Given the description of an element on the screen output the (x, y) to click on. 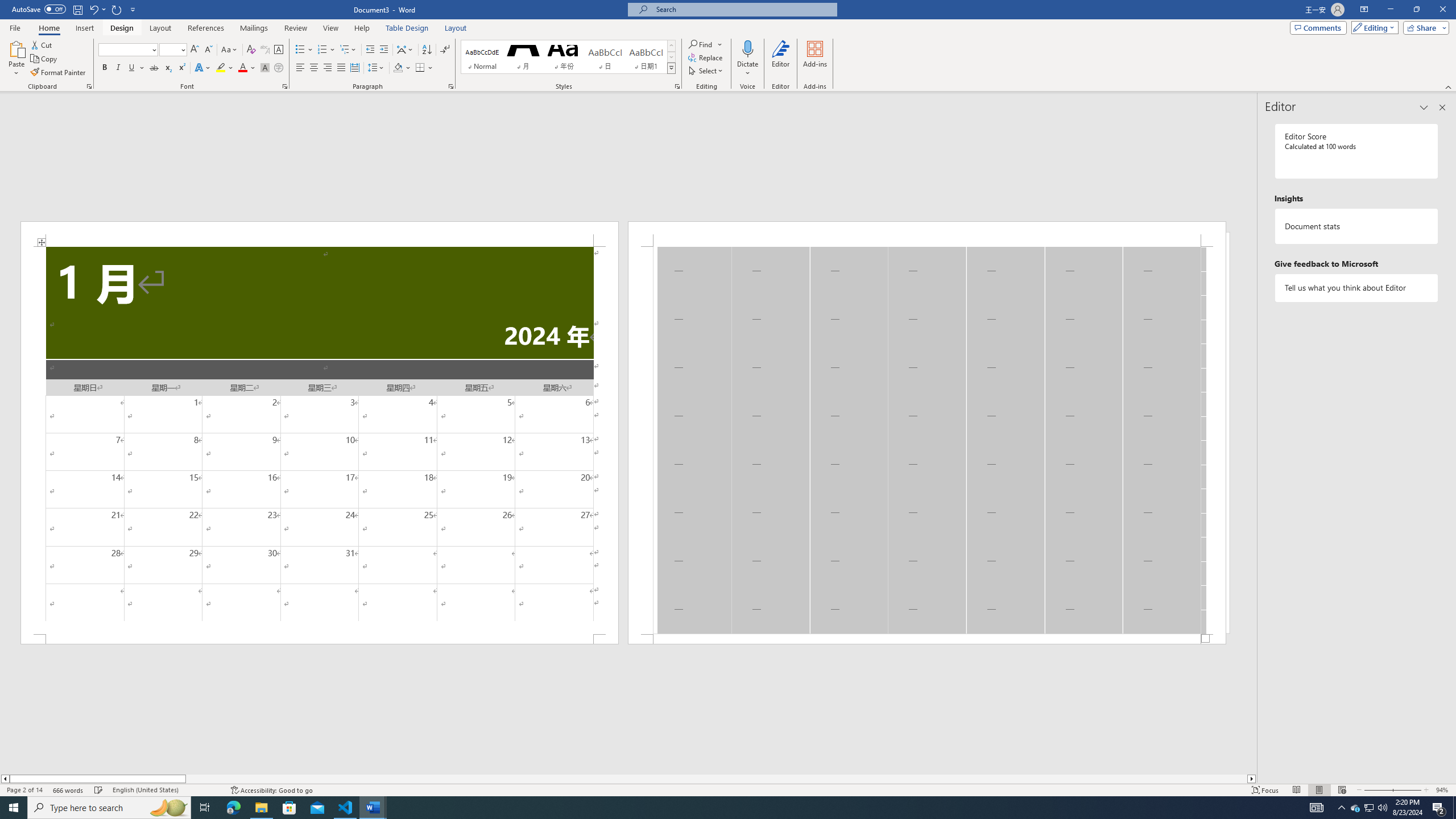
Column right (1251, 778)
Font Color RGB(255, 0, 0) (241, 67)
Page 1 content (319, 439)
